Given the description of an element on the screen output the (x, y) to click on. 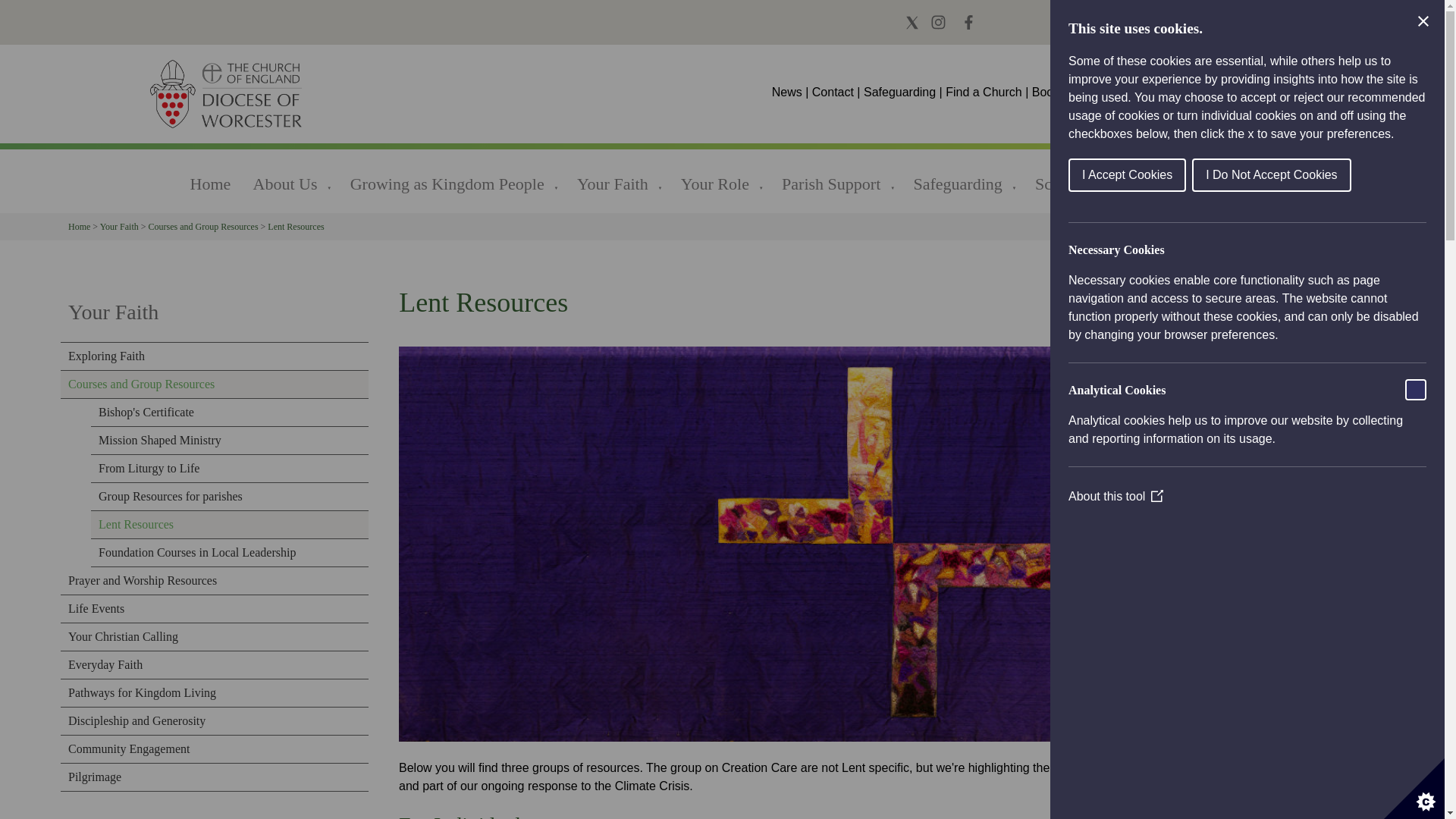
Safeguarding (899, 91)
News  (788, 91)
Book a Venue (1070, 91)
Contact (832, 91)
Find a Church (983, 91)
Donate (1202, 91)
I Accept Cookies (1295, 174)
Vacancies (1144, 91)
